Given the description of an element on the screen output the (x, y) to click on. 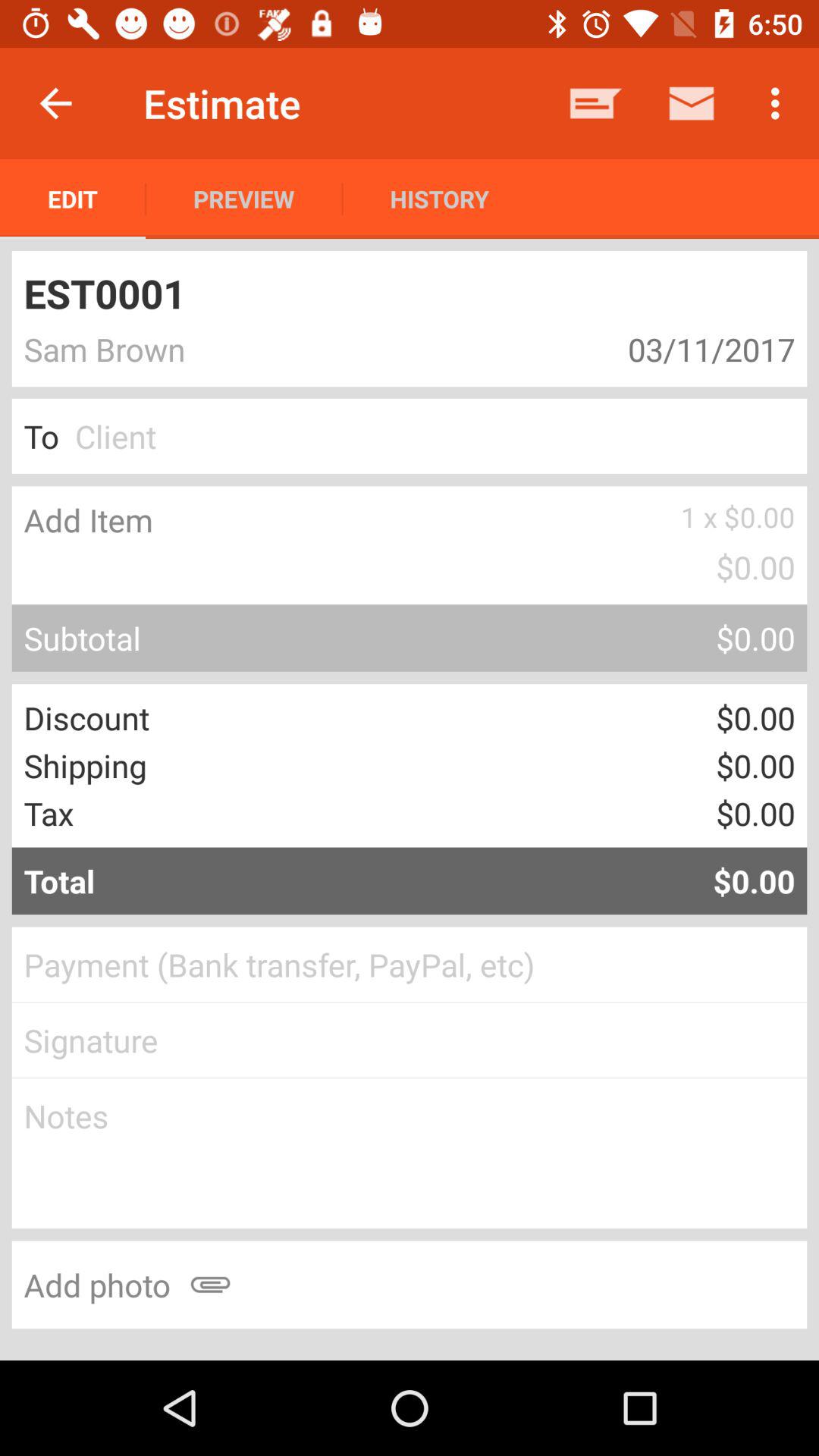
choose item below the estimate (243, 198)
